Given the description of an element on the screen output the (x, y) to click on. 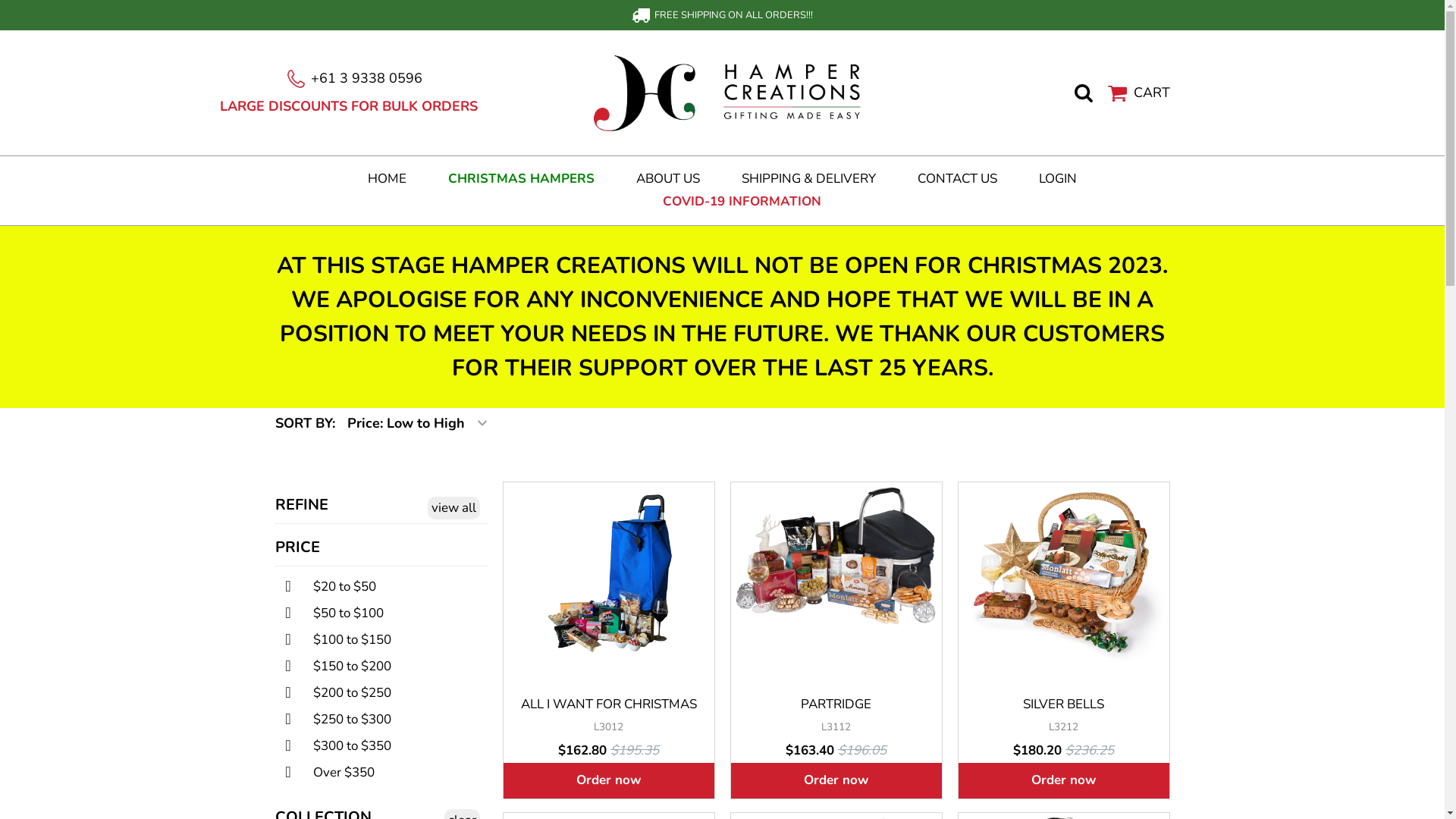
LOGIN Element type: text (1057, 178)
CART Element type: text (1138, 92)
$100 to $150 Element type: text (343, 639)
SILVER BELLS
L3212
$180.20 $236.25
Order now Element type: text (1063, 640)
$200 to $250 Element type: text (343, 692)
SHIPPING & DELIVERY Element type: text (808, 178)
view all Element type: text (453, 508)
$20 to $50 Element type: text (336, 586)
ALL I WANT FOR CHRISTMAS
L3012
$162.80 $195.35
Order now Element type: text (608, 640)
Over $350 Element type: text (335, 772)
$250 to $300 Element type: text (343, 719)
$150 to $200 Element type: text (343, 665)
+61 3 9338 0596 Element type: text (354, 78)
COVID-19 INFORMATION Element type: text (741, 201)
CONTACT US Element type: text (957, 178)
PARTRIDGE
L3112
$163.40 $196.05
Order now Element type: text (835, 640)
$300 to $350 Element type: text (343, 745)
HOME Element type: text (386, 178)
ABOUT US Element type: text (667, 178)
$50 to $100 Element type: text (339, 612)
Hamper Creations Element type: hover (729, 91)
CHRISTMAS HAMPERS Element type: text (521, 178)
